Given the description of an element on the screen output the (x, y) to click on. 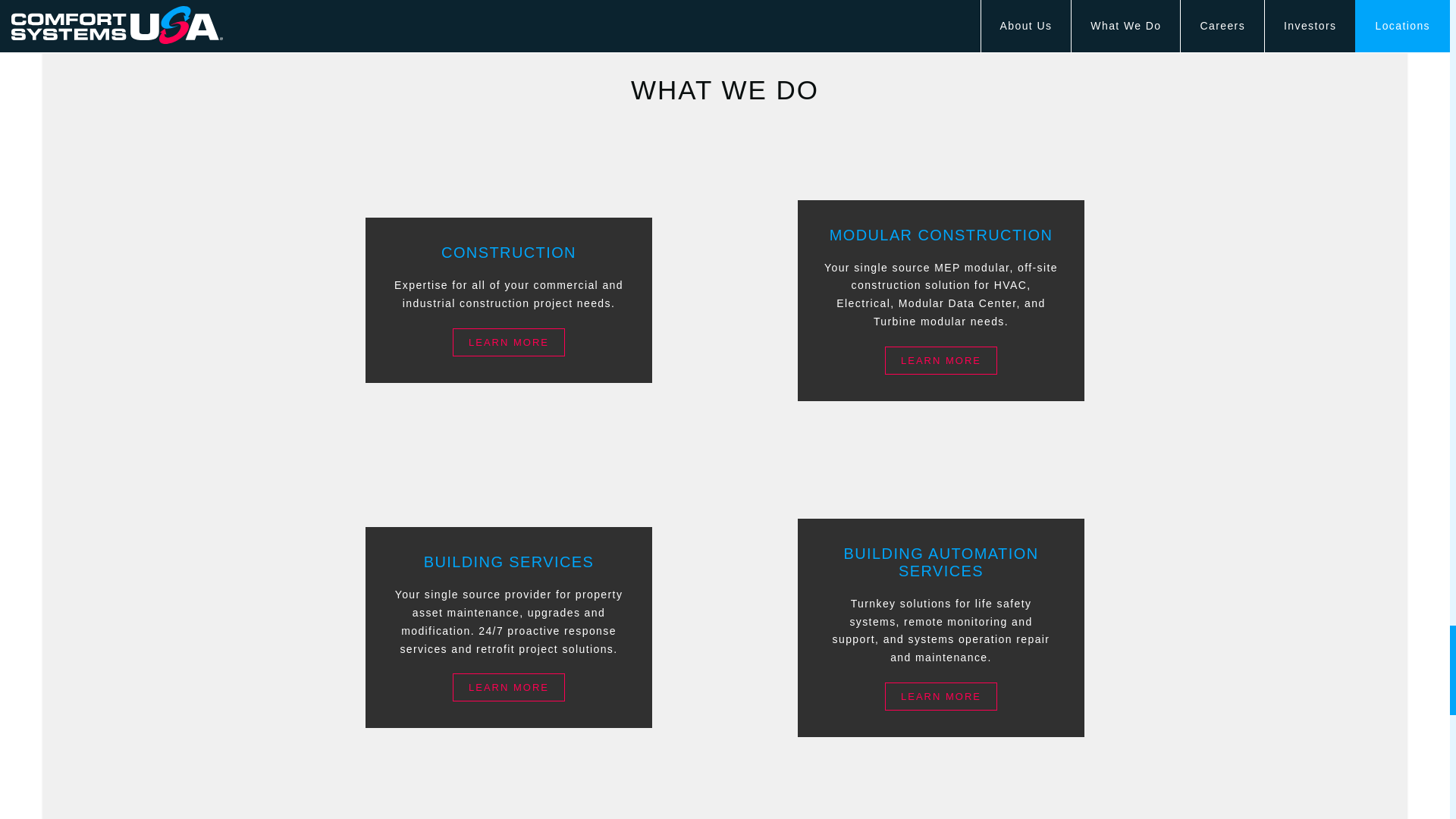
LEARN MORE (941, 696)
LEARN MORE (941, 360)
LEARN MORE (508, 687)
LEARN MORE (508, 342)
